Given the description of an element on the screen output the (x, y) to click on. 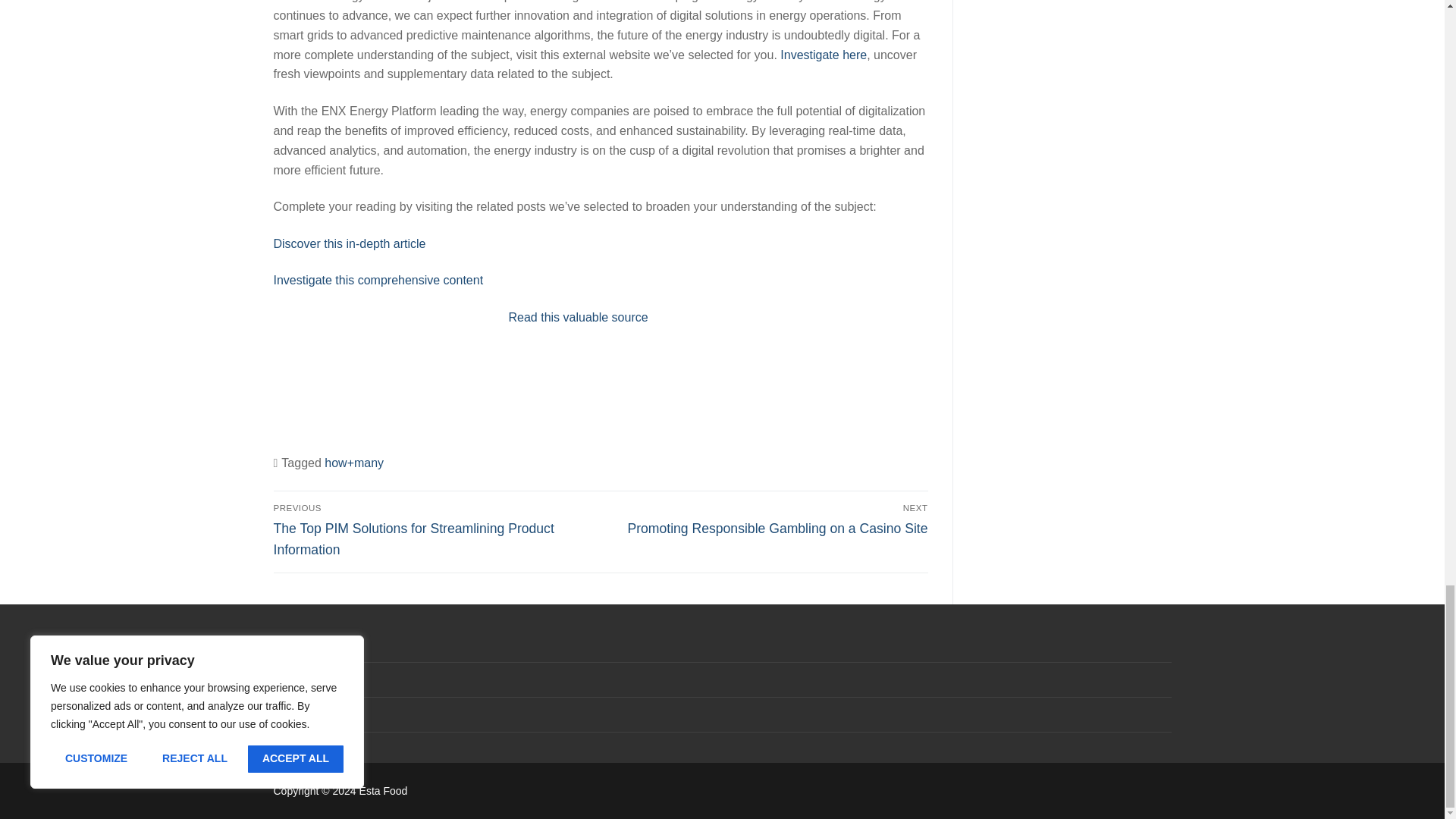
Investigate here (823, 54)
Investigate this comprehensive content (378, 279)
Read this valuable source (577, 317)
Discover this in-depth article (349, 243)
